Given the description of an element on the screen output the (x, y) to click on. 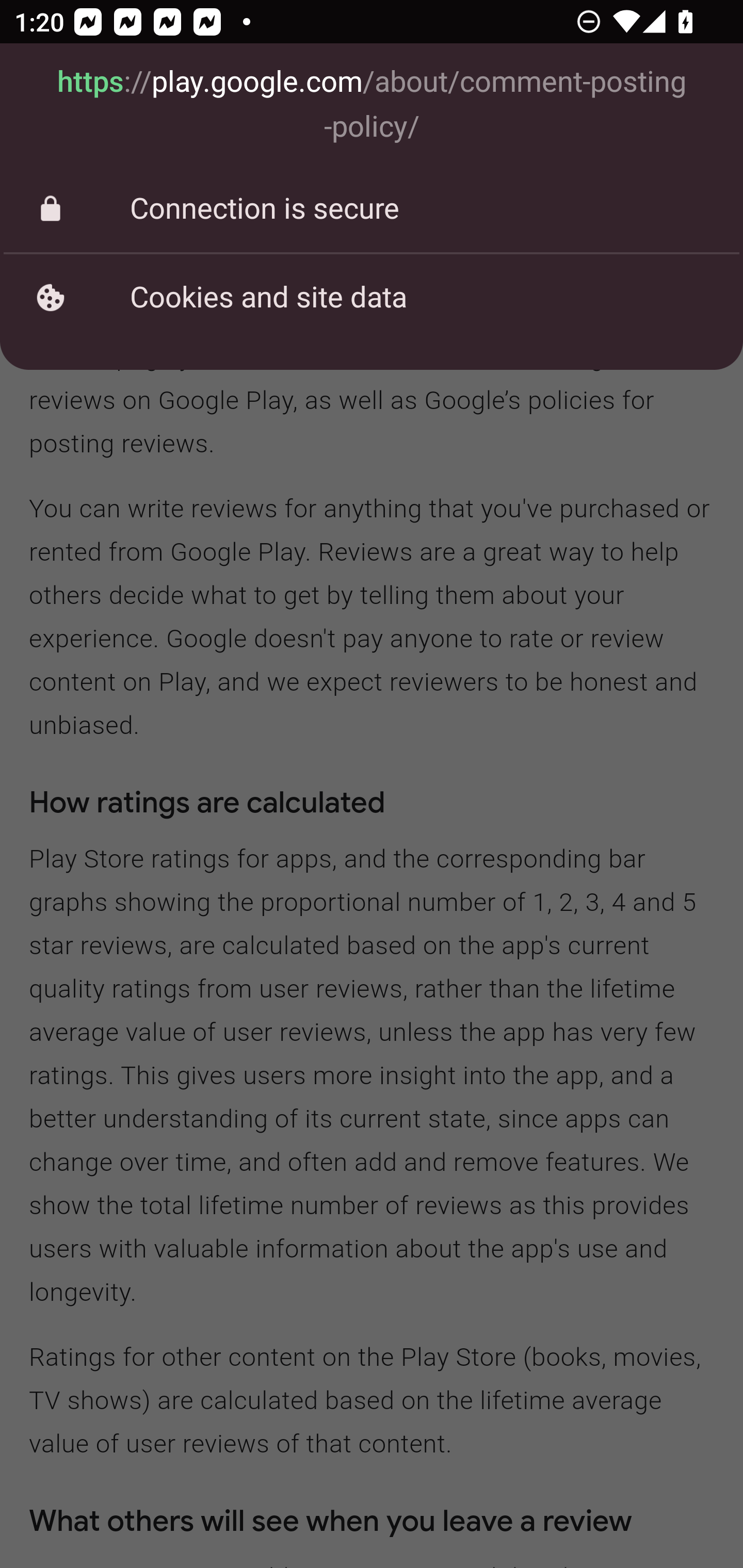
Connection is secure (371, 209)
Cookies and site data (371, 297)
